Given the description of an element on the screen output the (x, y) to click on. 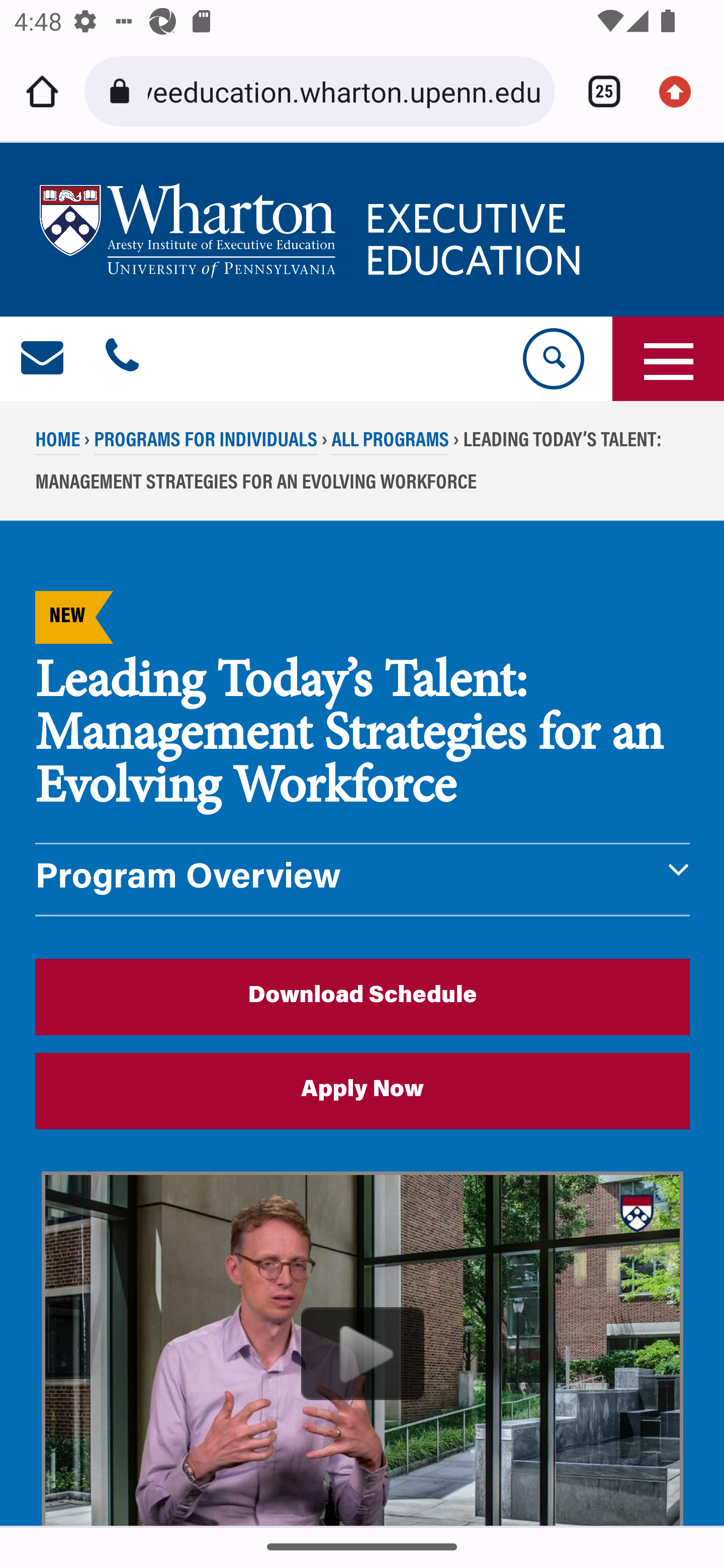
Home (42, 91)
Connection is secure (122, 91)
Switch or close tabs (597, 91)
Update available. More options (681, 91)
Wharton Executive Education (313, 230)
 (43, 358)
 (122, 358)
Mobile menu toggle (668, 358)
 Search Wharton  (552, 358)
HOME (58, 441)
PROGRAMS FOR INDIVIDUALS (205, 441)
ALL PROGRAMS (390, 441)
Program Overview  (362, 879)
Download Schedule (363, 996)
Apply Now (363, 1090)
Play video content LEAD Overview - Matthew Bidwell (363, 1349)
